Given the description of an element on the screen output the (x, y) to click on. 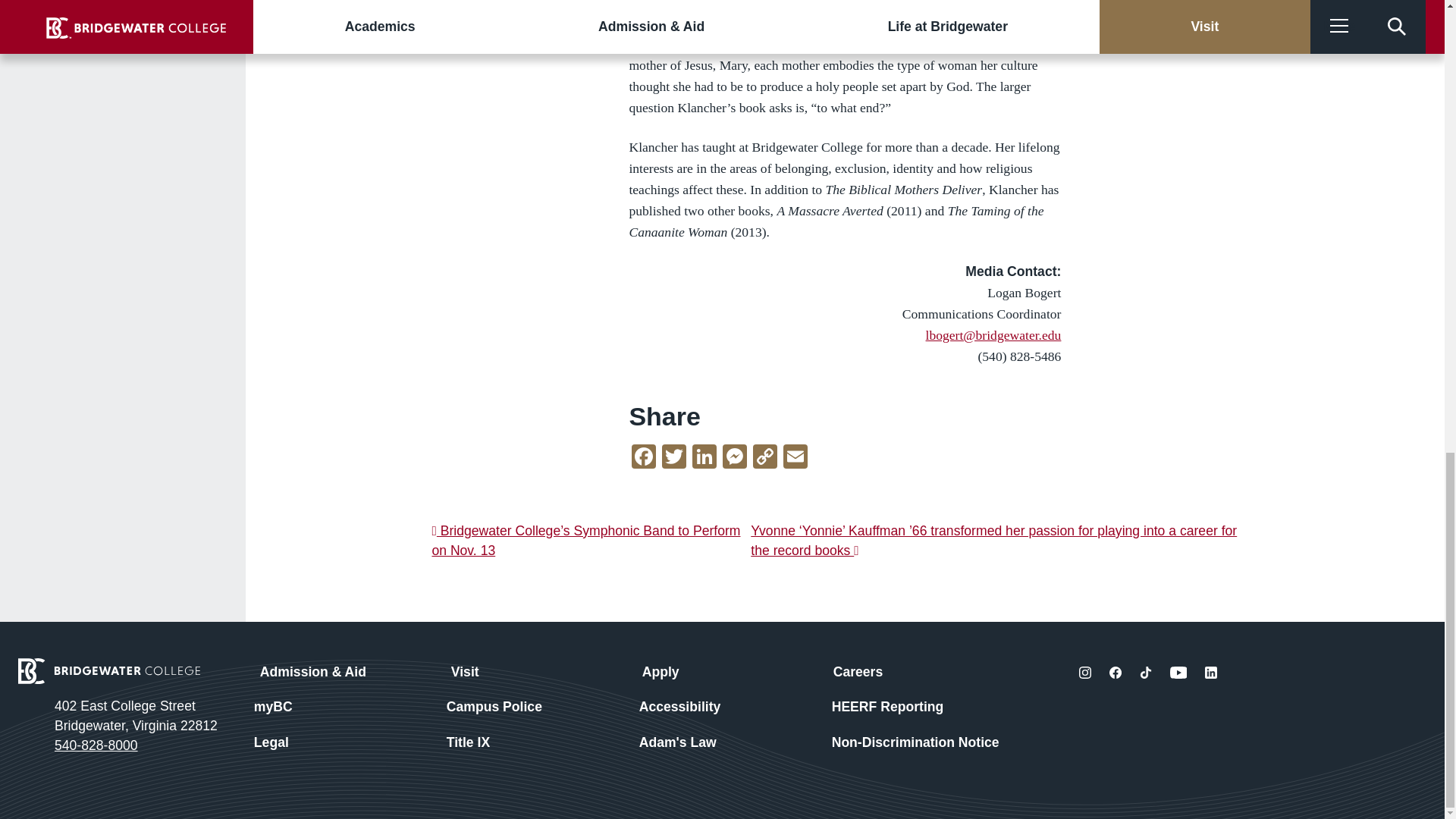
social-youtube (1178, 672)
LinkedIn (703, 458)
Copy Link (764, 458)
social-facebook (1115, 672)
Email (795, 458)
Messenger (734, 458)
Twitter (673, 458)
social-instagram-fill (1084, 672)
Facebook (643, 458)
